Given the description of an element on the screen output the (x, y) to click on. 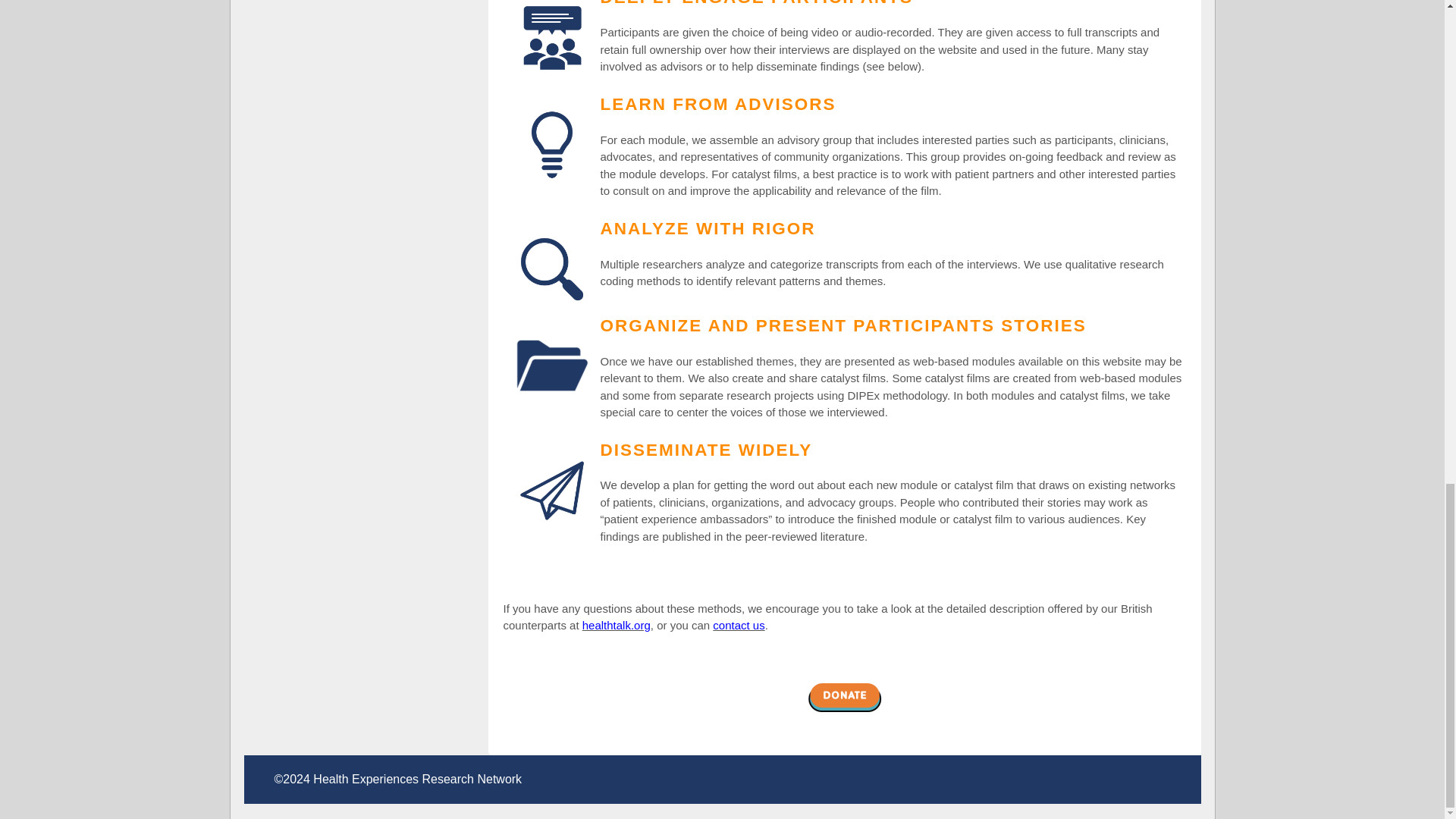
contact us (738, 625)
healthtalk.org (616, 625)
